Given the description of an element on the screen output the (x, y) to click on. 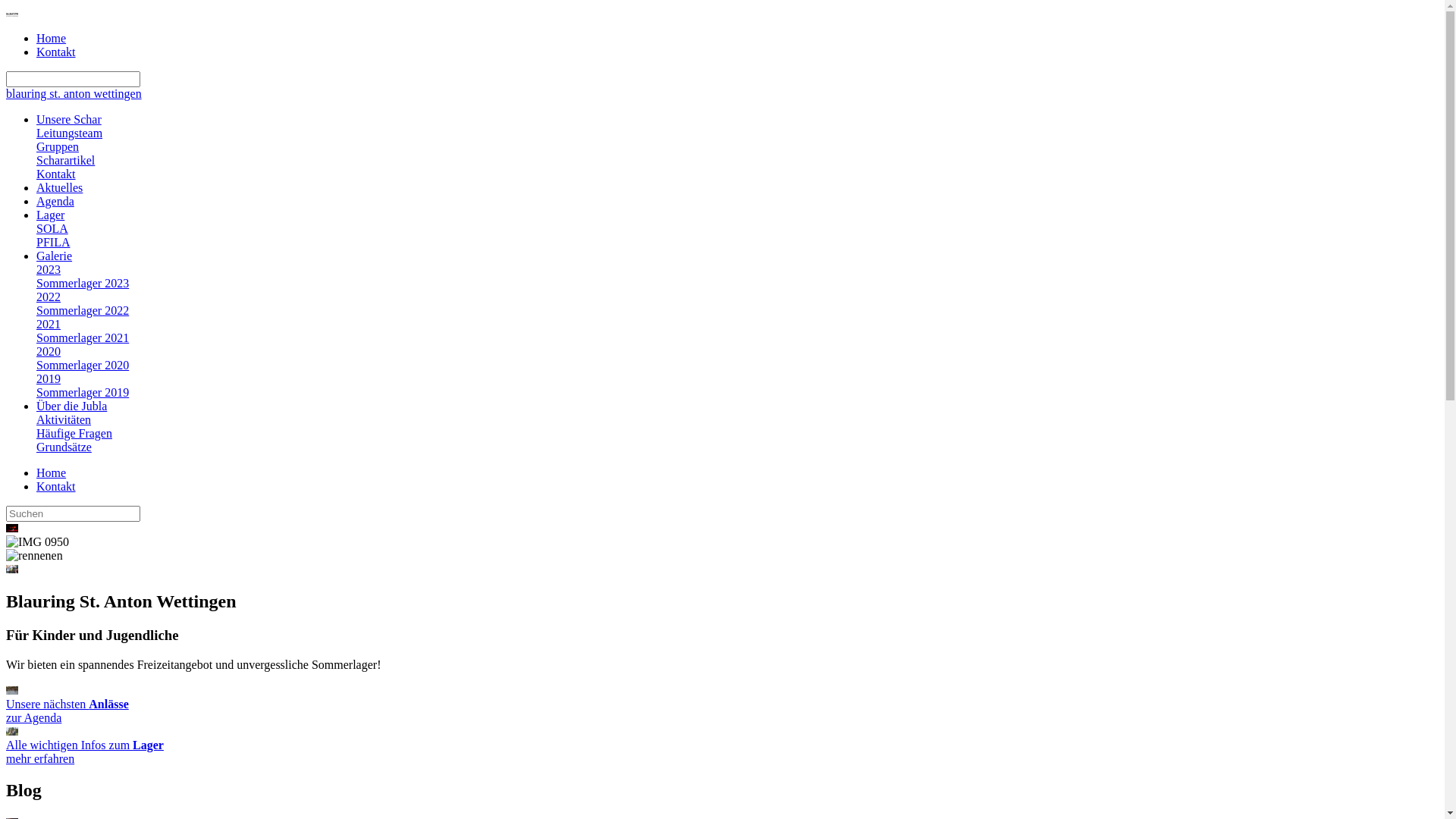
2019 Element type: text (48, 378)
mehr erfahren Element type: text (40, 758)
Scharartikel Element type: text (65, 159)
Blauring St. Anton Wettingen Element type: hover (12, 12)
Leitungsteam Element type: text (69, 132)
Home Element type: text (50, 472)
Home Element type: text (50, 37)
PFILA Element type: text (52, 241)
SOLA Element type: text (52, 228)
Agenda Element type: text (55, 200)
Kontakt Element type: text (55, 486)
2021 Element type: text (48, 323)
Kontakt Element type: text (55, 173)
Sommerlager 2023 Element type: text (82, 282)
Alle wichtigen Infos zum Lager Element type: hover (12, 731)
Alle wichtigen Infos zum Lager Element type: text (84, 744)
2020 Element type: text (48, 351)
Blauring St. Anton Wettingen Element type: hover (12, 14)
zur Agenda Element type: text (33, 717)
Sommerlager 2019 Element type: text (82, 391)
blauring st. anton wettingen Element type: text (73, 93)
Sommerlager 2020 Element type: text (82, 364)
2022 Element type: text (48, 296)
Galerie Element type: text (54, 255)
zur Agenda Element type: hover (12, 690)
Sommerlager 2022 Element type: text (82, 310)
Sommerlager 2021 Element type: text (82, 337)
Gruppen Element type: text (57, 146)
2023 Element type: text (48, 269)
Kontakt Element type: text (55, 51)
Aktuelles Element type: text (59, 187)
Unsere Schar Element type: text (68, 118)
Lager Element type: text (50, 214)
mehr erfahren Element type: hover (12, 730)
